Given the description of an element on the screen output the (x, y) to click on. 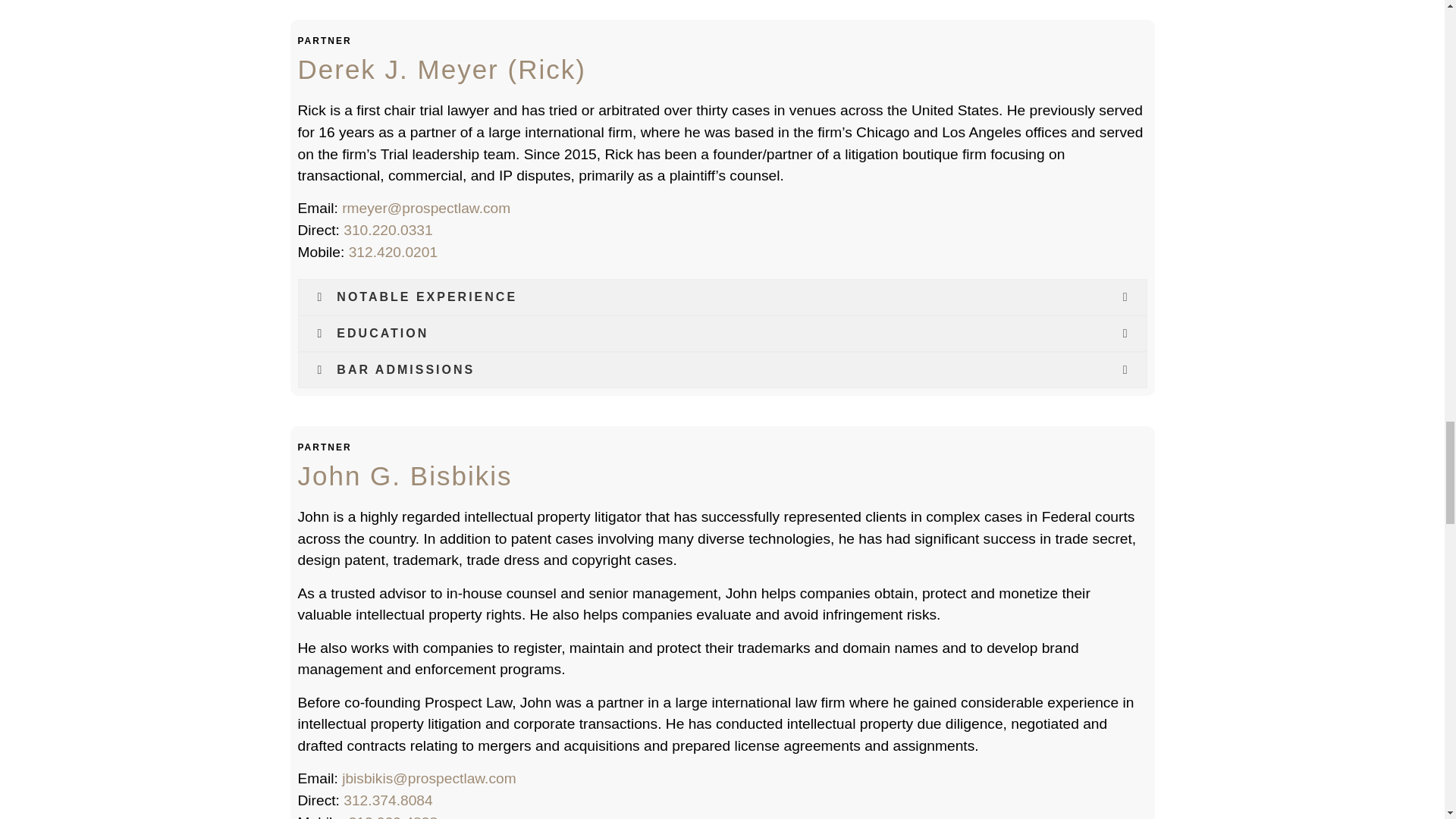
312.420.0201 (393, 252)
310.220.0331 (387, 229)
312.374.8084 (387, 800)
312.909.4838 (393, 816)
